Given the description of an element on the screen output the (x, y) to click on. 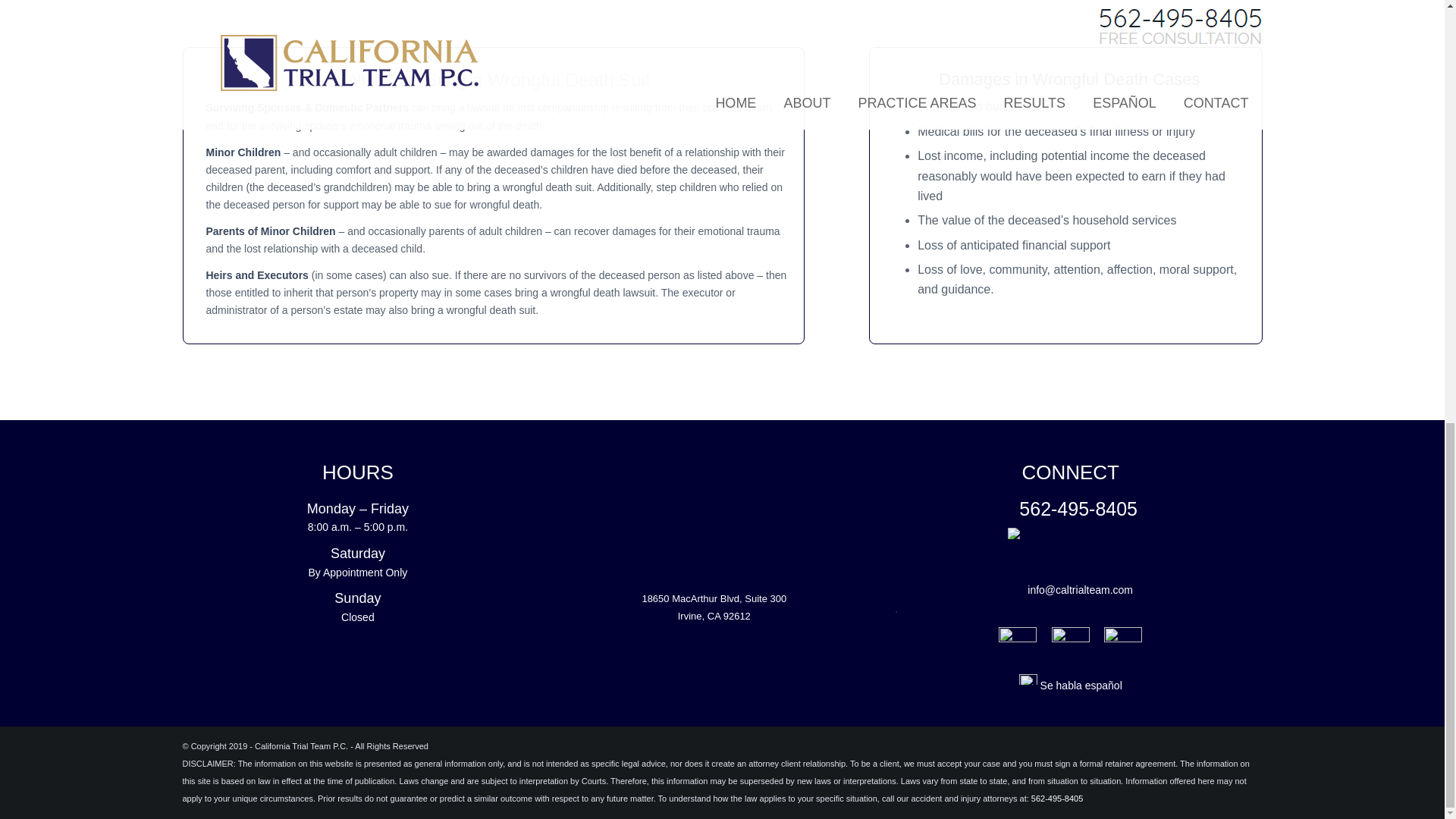
562-495-8405 (1056, 798)
562-495-8405 (714, 606)
